Given the description of an element on the screen output the (x, y) to click on. 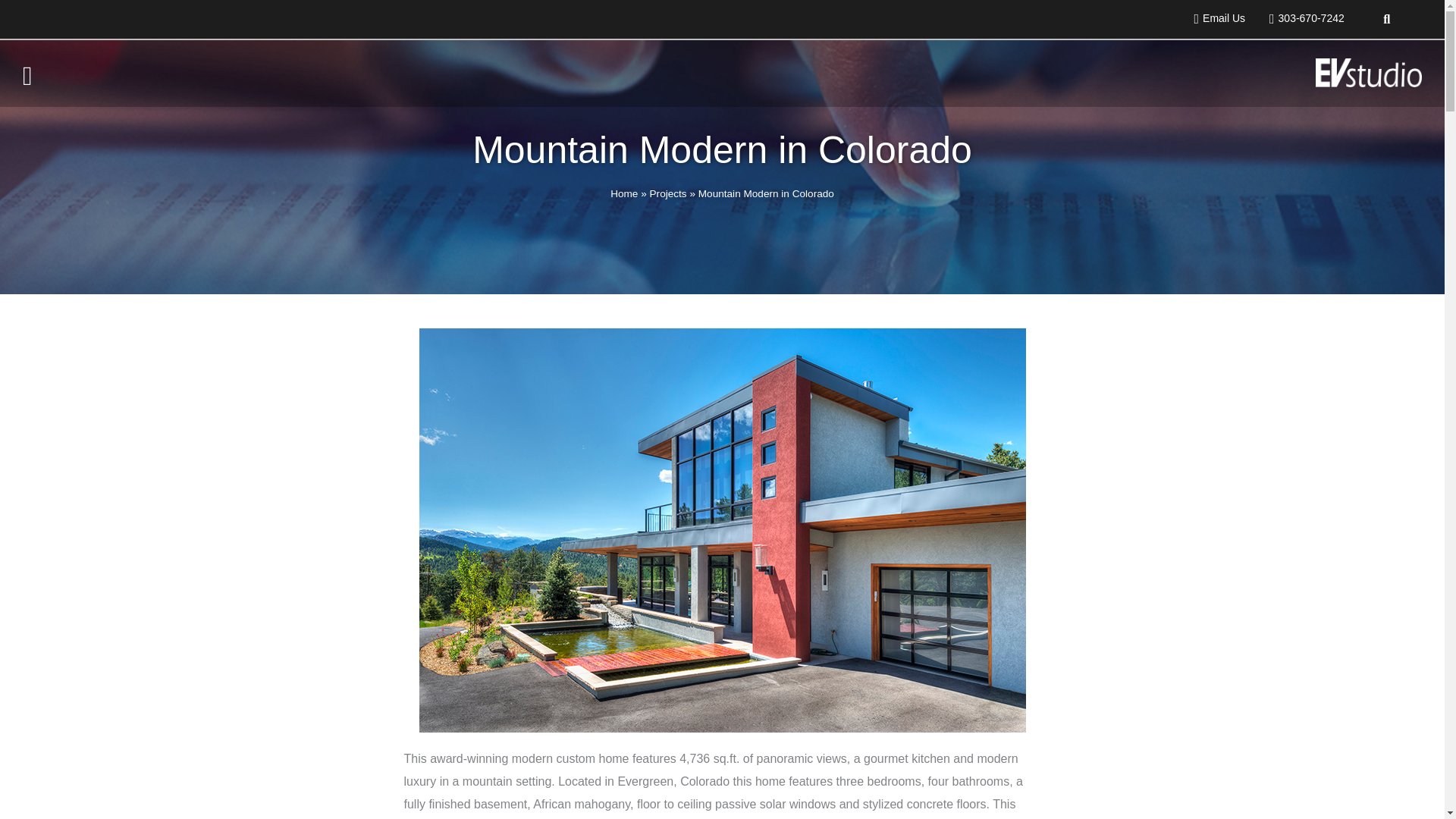
303-670-7242 (1300, 18)
Home (623, 202)
Email Us (1214, 18)
Projects (668, 202)
